Given the description of an element on the screen output the (x, y) to click on. 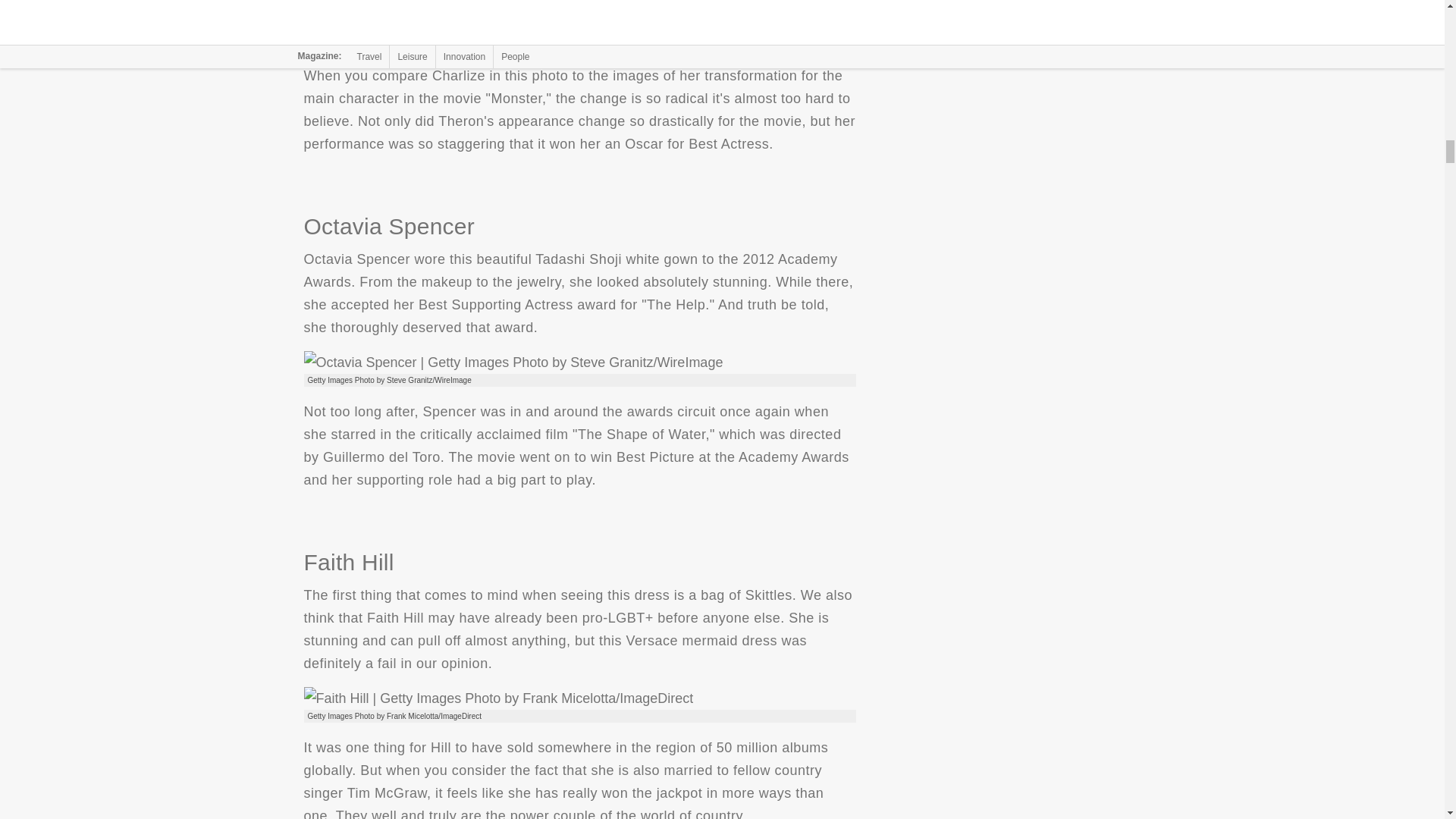
Charlize Theron (506, 26)
Faith Hill (497, 698)
Octavia Spencer (512, 362)
